Given the description of an element on the screen output the (x, y) to click on. 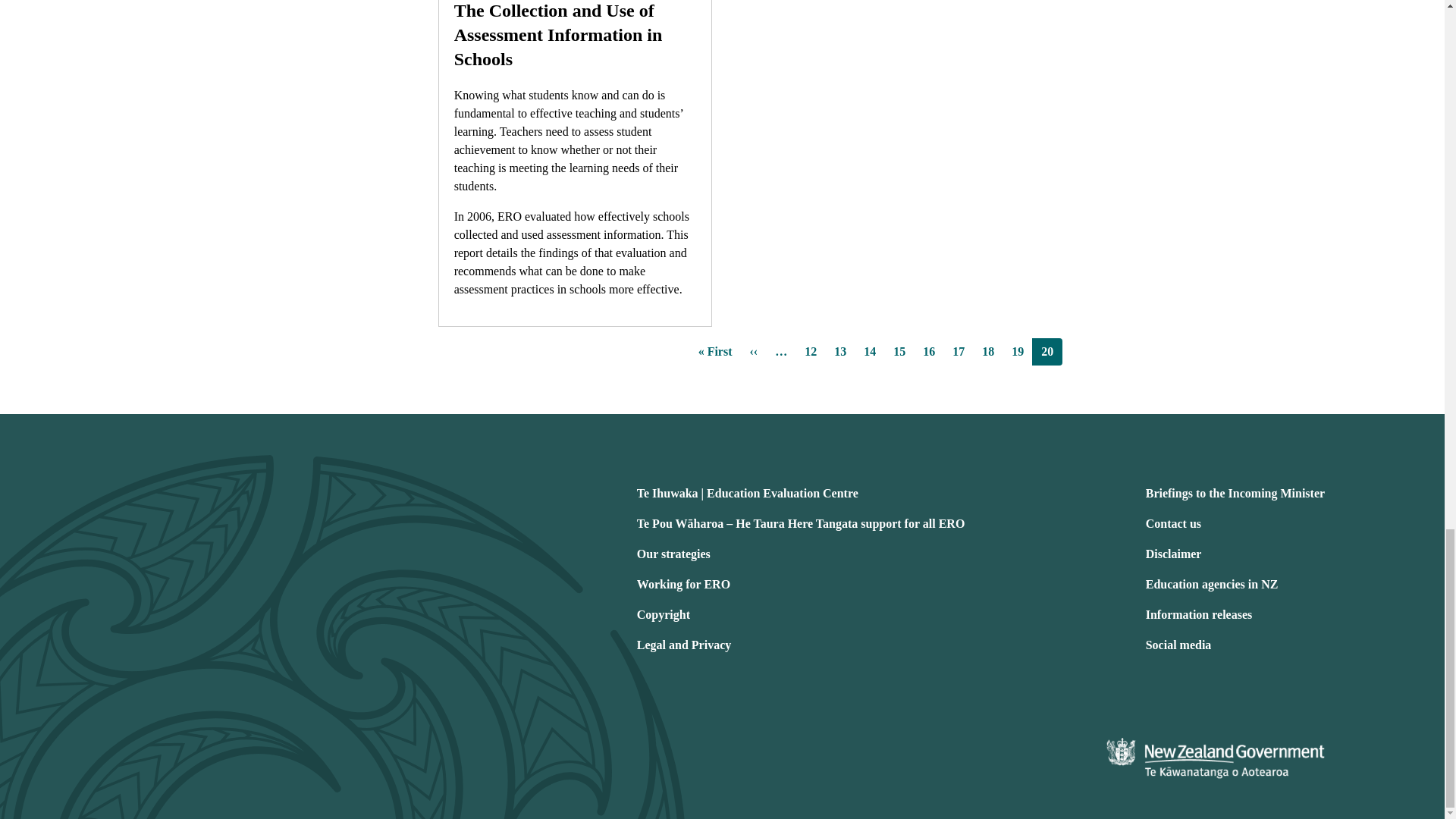
Go to page 13 (840, 351)
Current page (1047, 351)
Go to page 18 (987, 351)
Go to page 12 (809, 351)
Go to previous page (754, 351)
Go to page 19 (1017, 351)
Go to page 15 (898, 351)
Go to page 14 (869, 351)
Go to page 17 (958, 351)
Go to first page (714, 351)
Go to page 16 (928, 351)
